Given the description of an element on the screen output the (x, y) to click on. 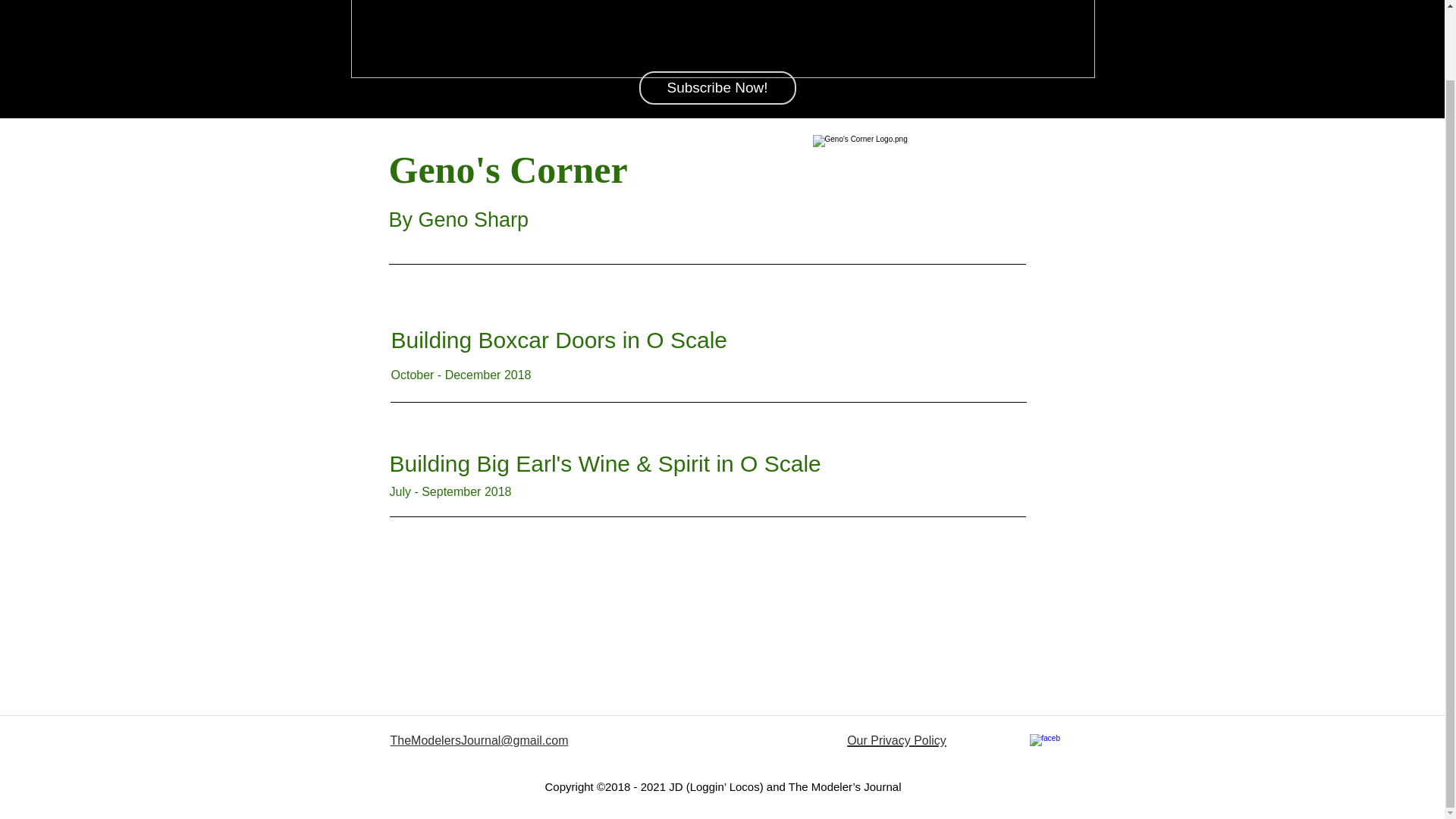
Our Privacy Policy (896, 661)
Subscribe Now! (716, 87)
By Geno Sharp (458, 219)
Building Boxcar Doors in O Scale  (562, 339)
